Given the description of an element on the screen output the (x, y) to click on. 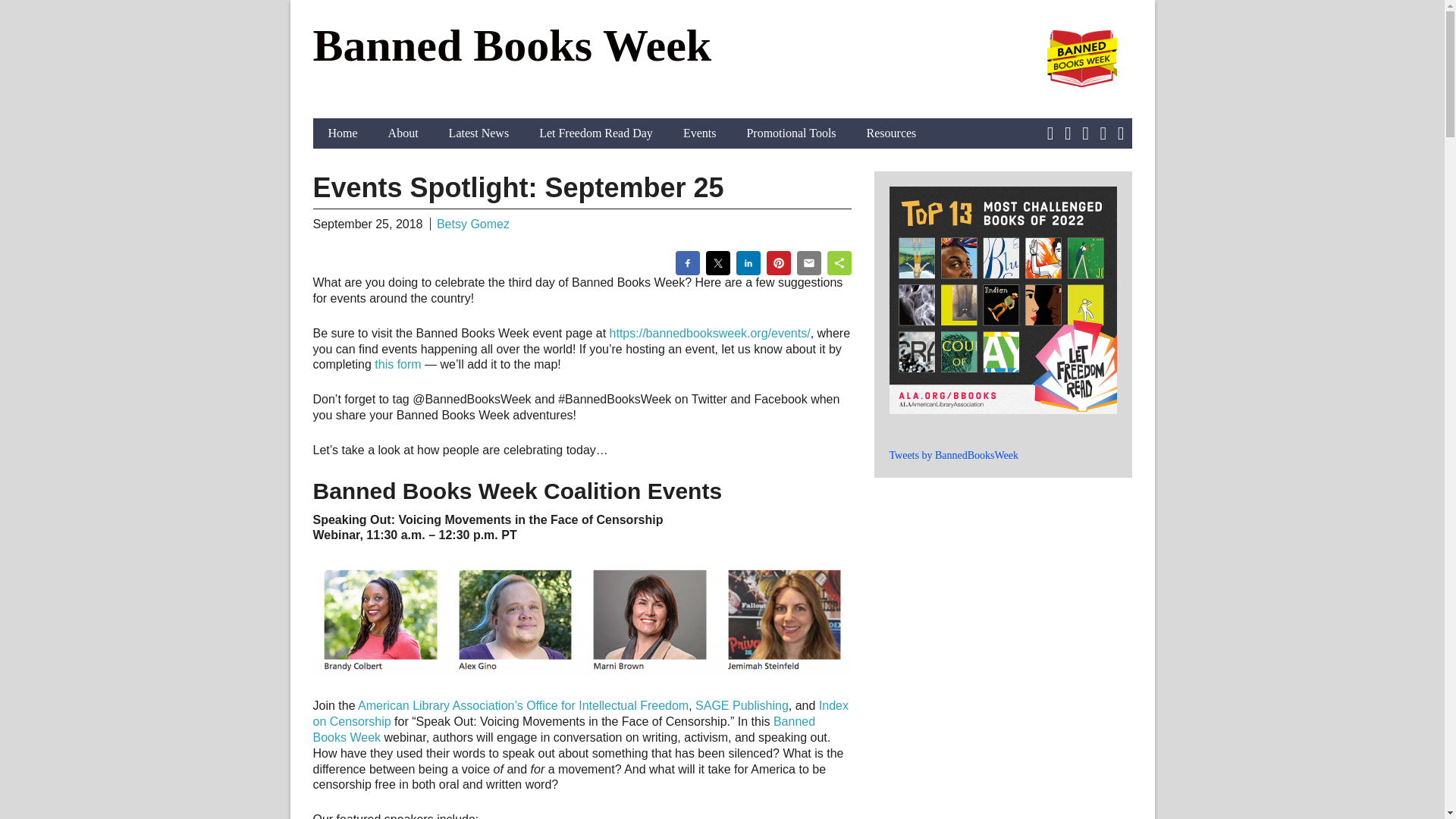
About (402, 132)
Events (700, 132)
Index on Censorship (580, 713)
Home (342, 132)
Banned Books Week (512, 45)
Resources (891, 132)
Let Freedom Read Day (596, 132)
SAGE Publishing (742, 705)
Banned Books Week (564, 728)
this form (397, 364)
Promotional Tools (790, 132)
Betsy Gomez (472, 223)
Latest News (478, 132)
Posts by Betsy Gomez (472, 223)
